Given the description of an element on the screen output the (x, y) to click on. 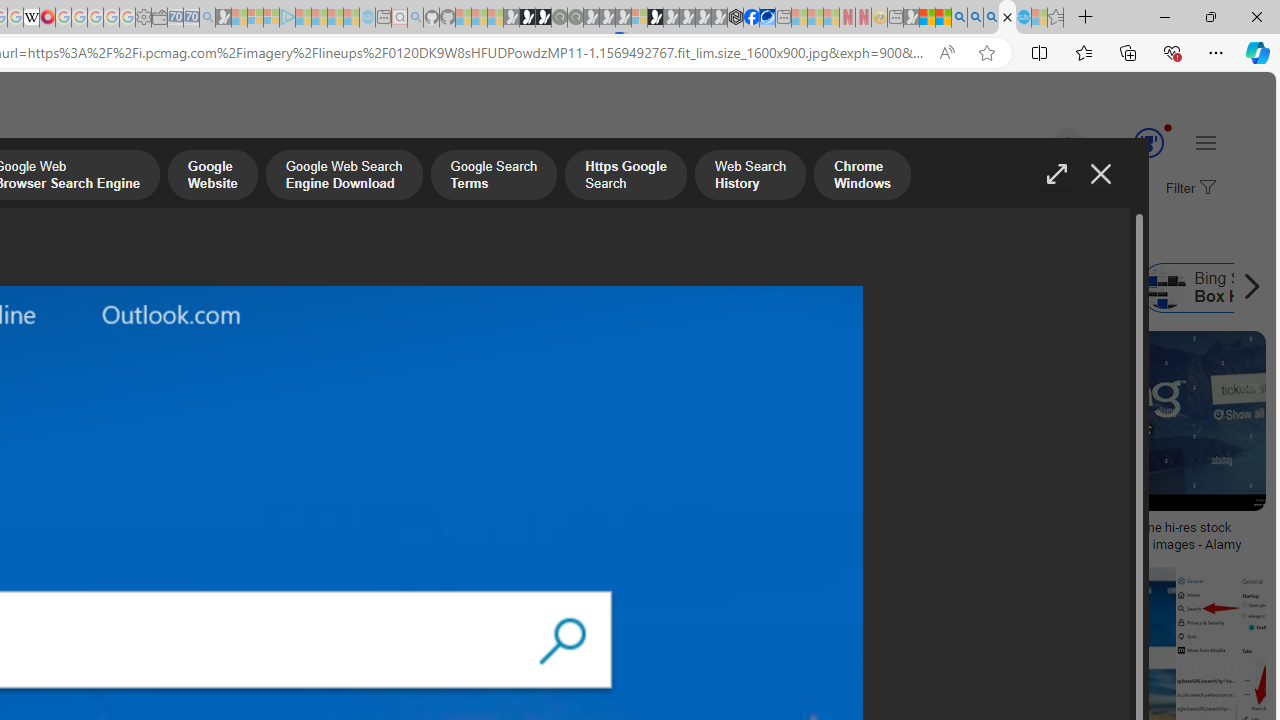
Nordace - Cooler Bags (735, 17)
Close image (1100, 173)
Google Web Search Engine Download (343, 177)
